Given the description of an element on the screen output the (x, y) to click on. 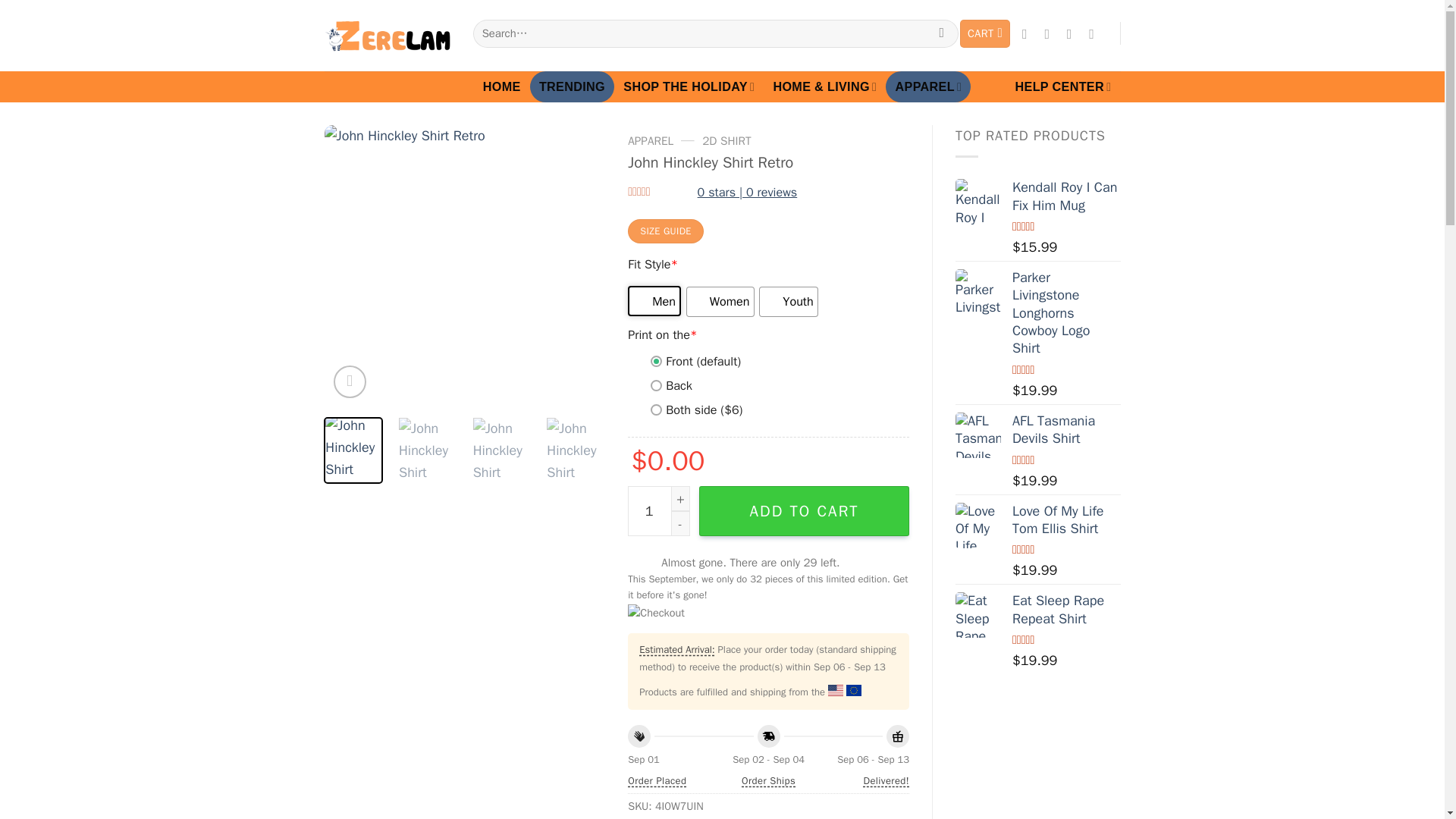
Eat Sleep Rape Repeat Shirt (978, 615)
APPAREL (928, 86)
AFL Tasmania Devils Shirt (978, 434)
SHOP THE HOLIDAY (688, 86)
CART (984, 33)
Kendall Roy I Can Fix Him Mug (978, 201)
Zerelam - Best Clothes For Your Family (386, 35)
Cart (984, 33)
Search (941, 33)
Parker Livingstone Longhorns Cowboy Logo Shirt (978, 291)
